Given the description of an element on the screen output the (x, y) to click on. 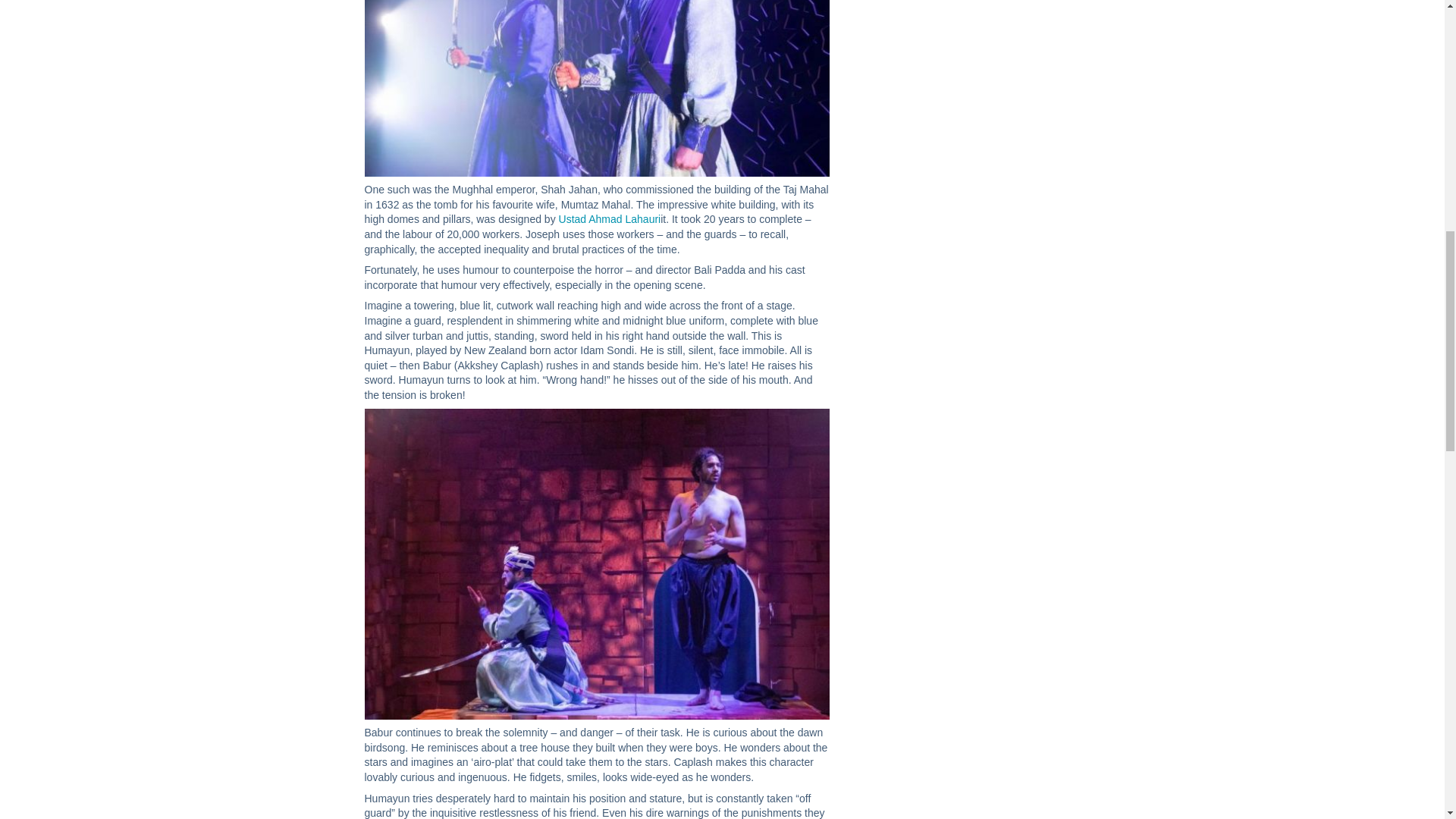
Ustad Ahmad Lahauri (610, 218)
Ustad Ahmad Lahauri (610, 218)
